Given the description of an element on the screen output the (x, y) to click on. 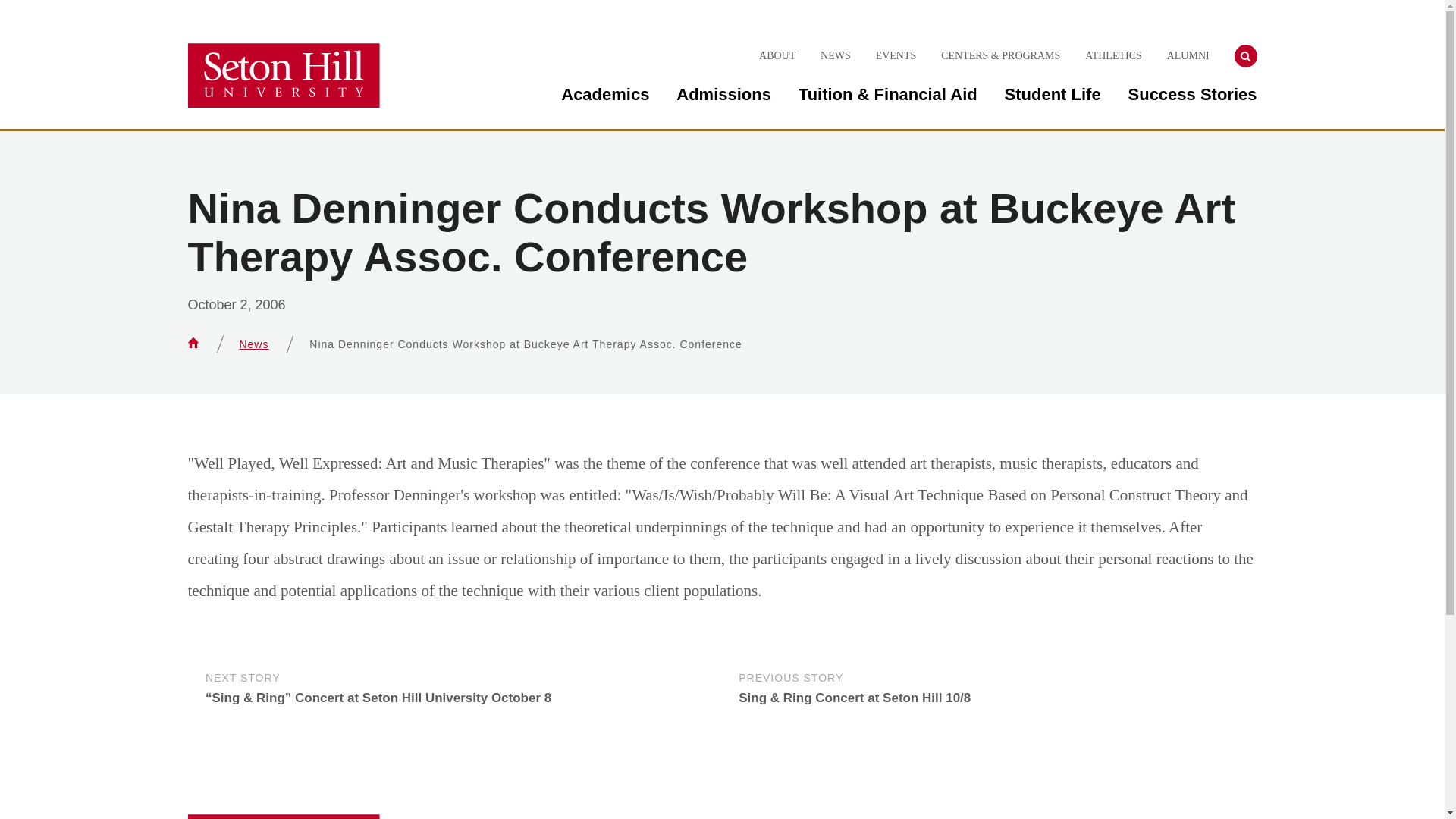
Academics (604, 94)
ALUMNI (1188, 55)
ABOUT (776, 55)
NEWS (835, 55)
EVENTS (896, 55)
Admissions (724, 94)
ATHLETICS (1112, 55)
SEARCH (1245, 56)
